Given the description of an element on the screen output the (x, y) to click on. 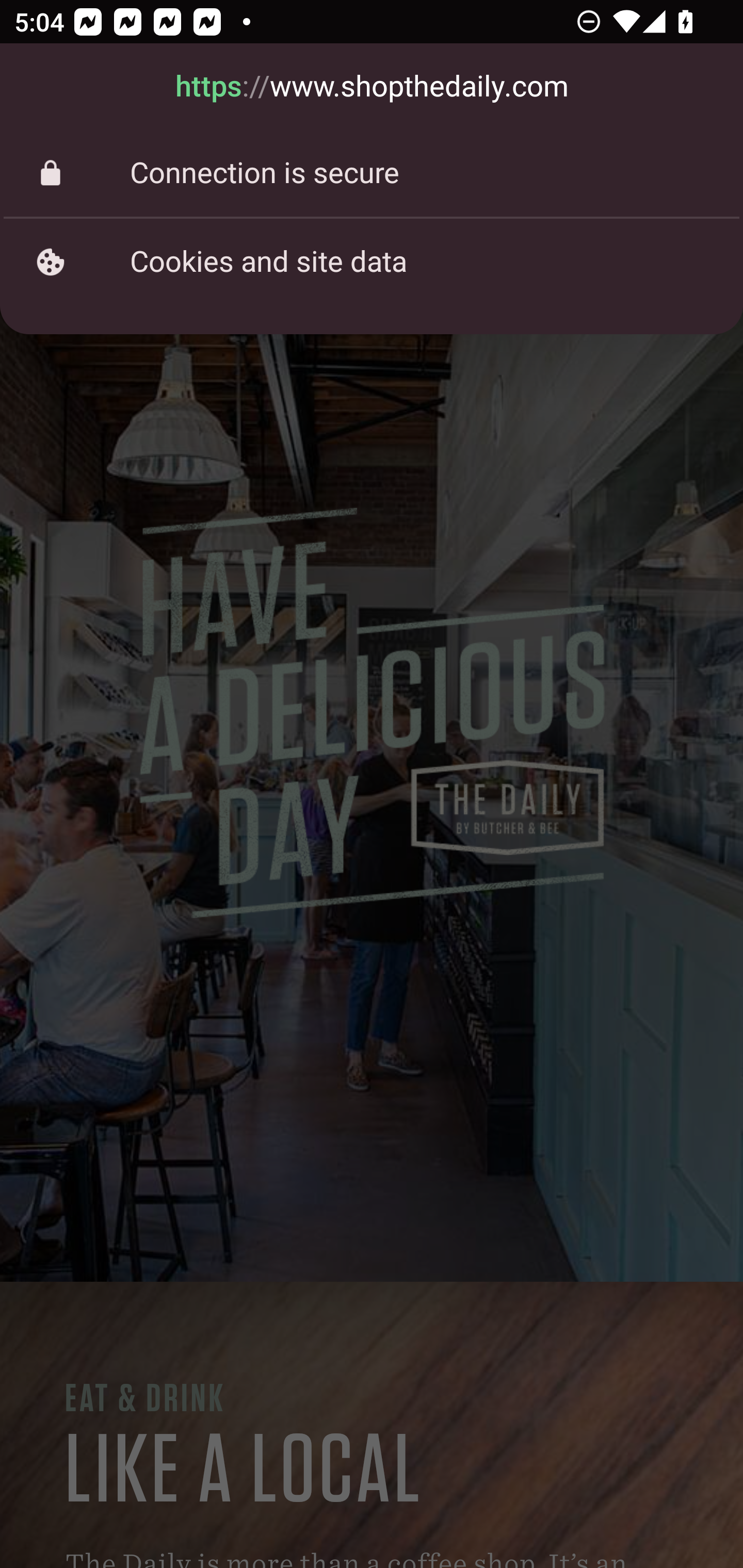
https://www.shopthedaily.com (371, 86)
Connection is secure (371, 173)
Cookies and site data (371, 261)
